Given the description of an element on the screen output the (x, y) to click on. 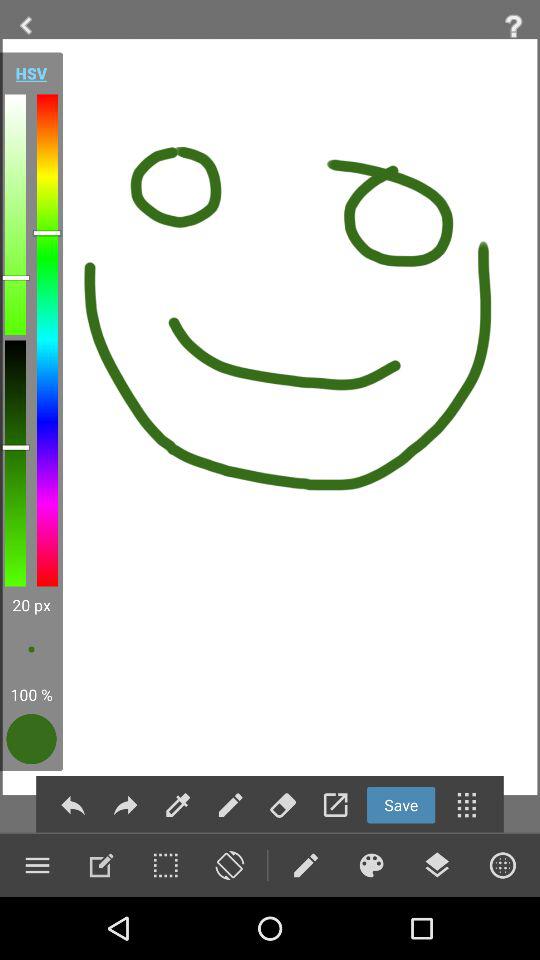
square selection symbol (165, 865)
